Given the description of an element on the screen output the (x, y) to click on. 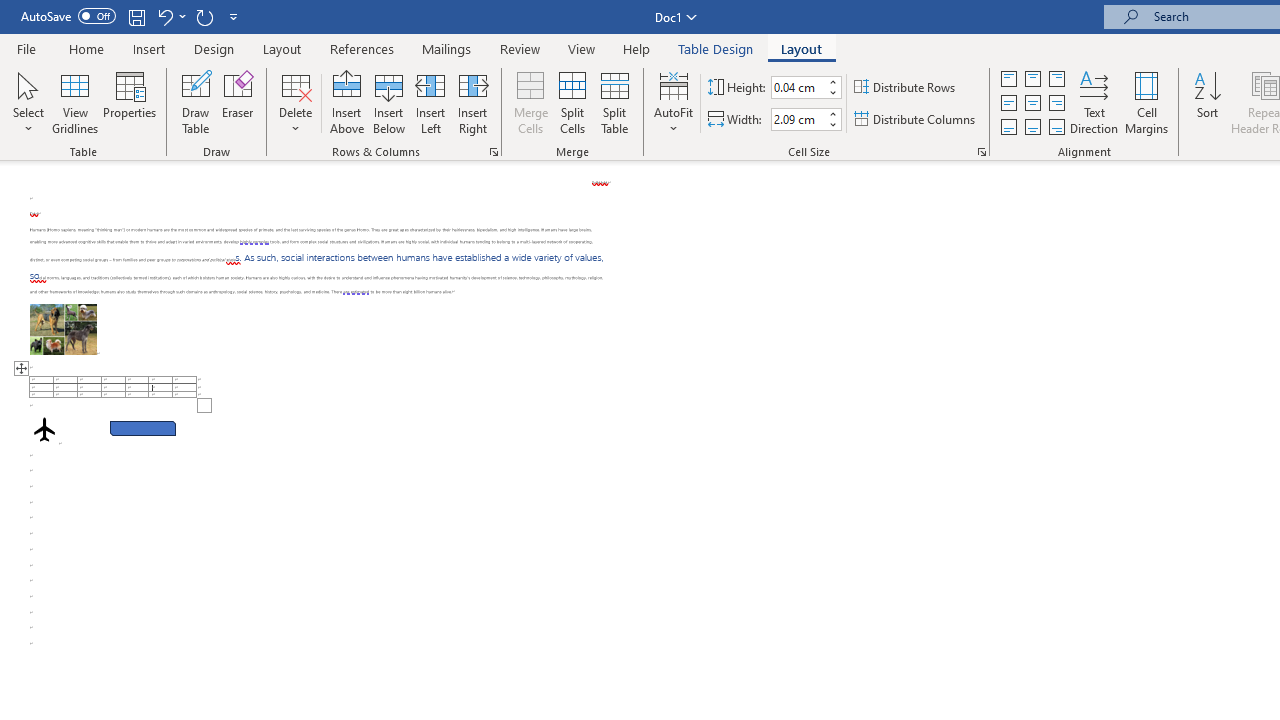
Delete (296, 102)
Insert Below (388, 102)
More (832, 113)
Split Cells... (572, 102)
Airplane with solid fill (43, 429)
Table Column Width (797, 119)
Align Top Right (1056, 78)
Repeat Row Height Spinner (204, 15)
Split Table (614, 102)
Undo Row Height Spinner (164, 15)
Align Center (1032, 103)
Table Design (715, 48)
Insert Right (472, 102)
